Given the description of an element on the screen output the (x, y) to click on. 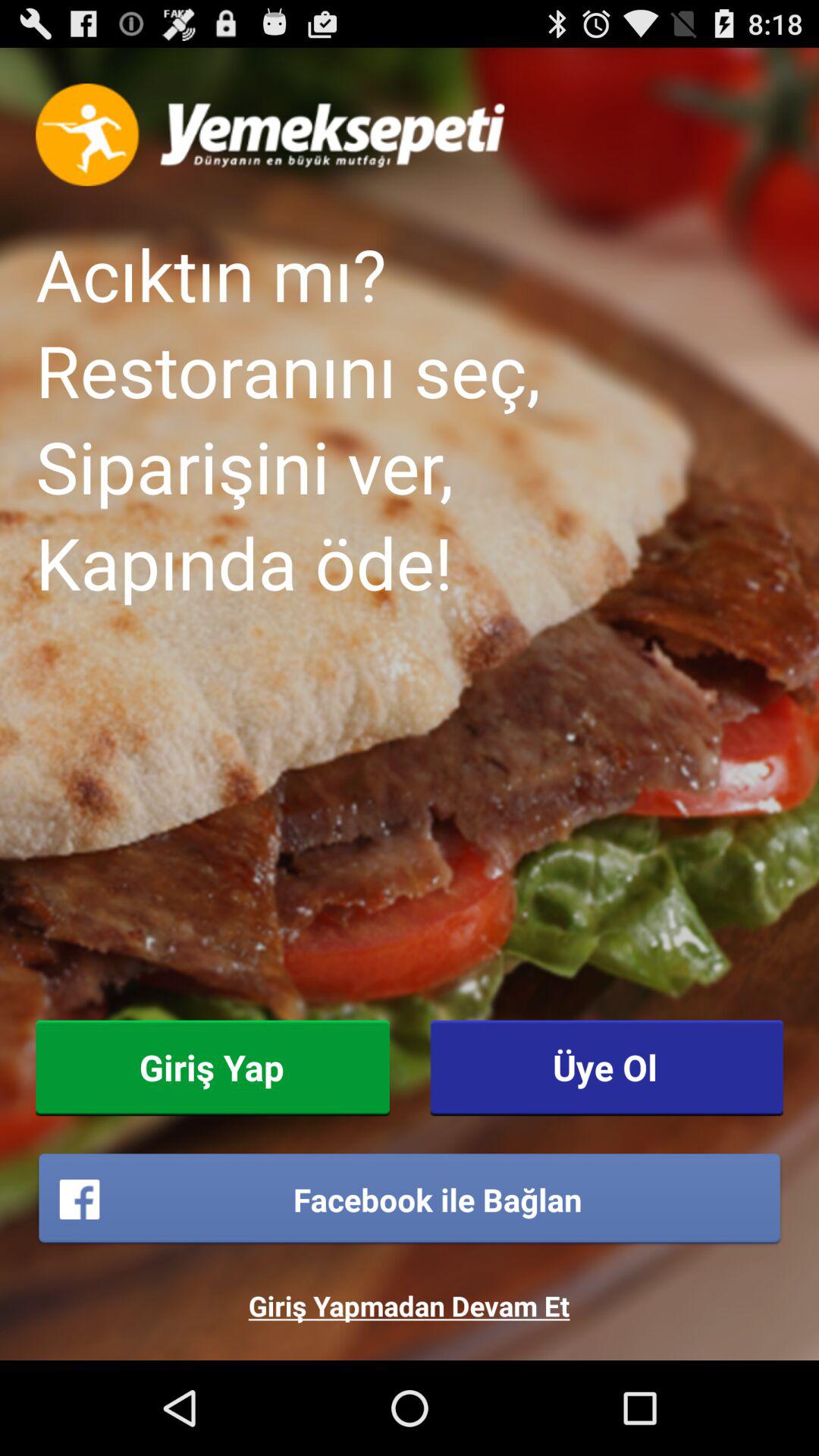
launch the icon at the bottom left corner (212, 1067)
